Given the description of an element on the screen output the (x, y) to click on. 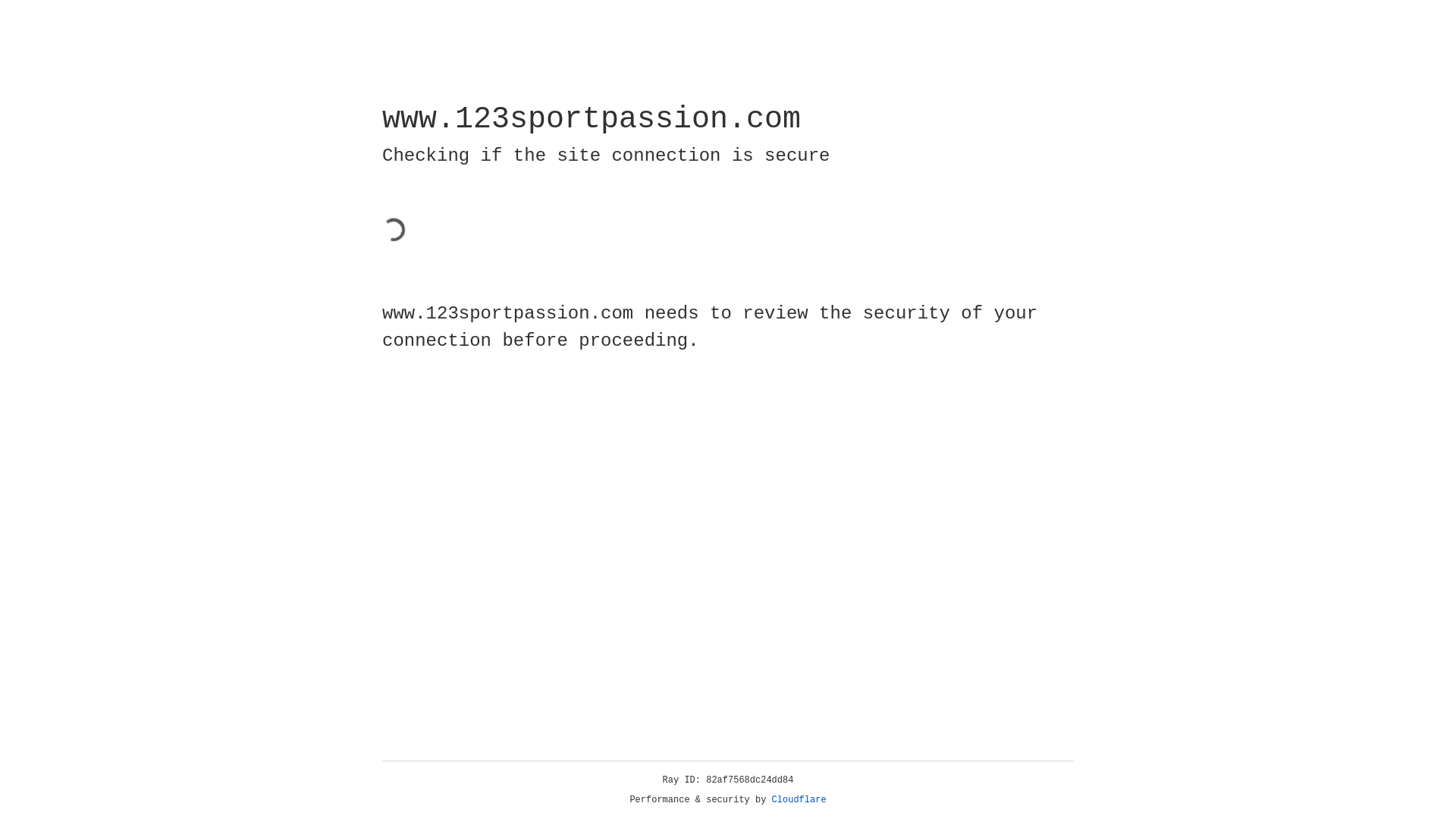
Cloudflare Element type: text (798, 799)
